Given the description of an element on the screen output the (x, y) to click on. 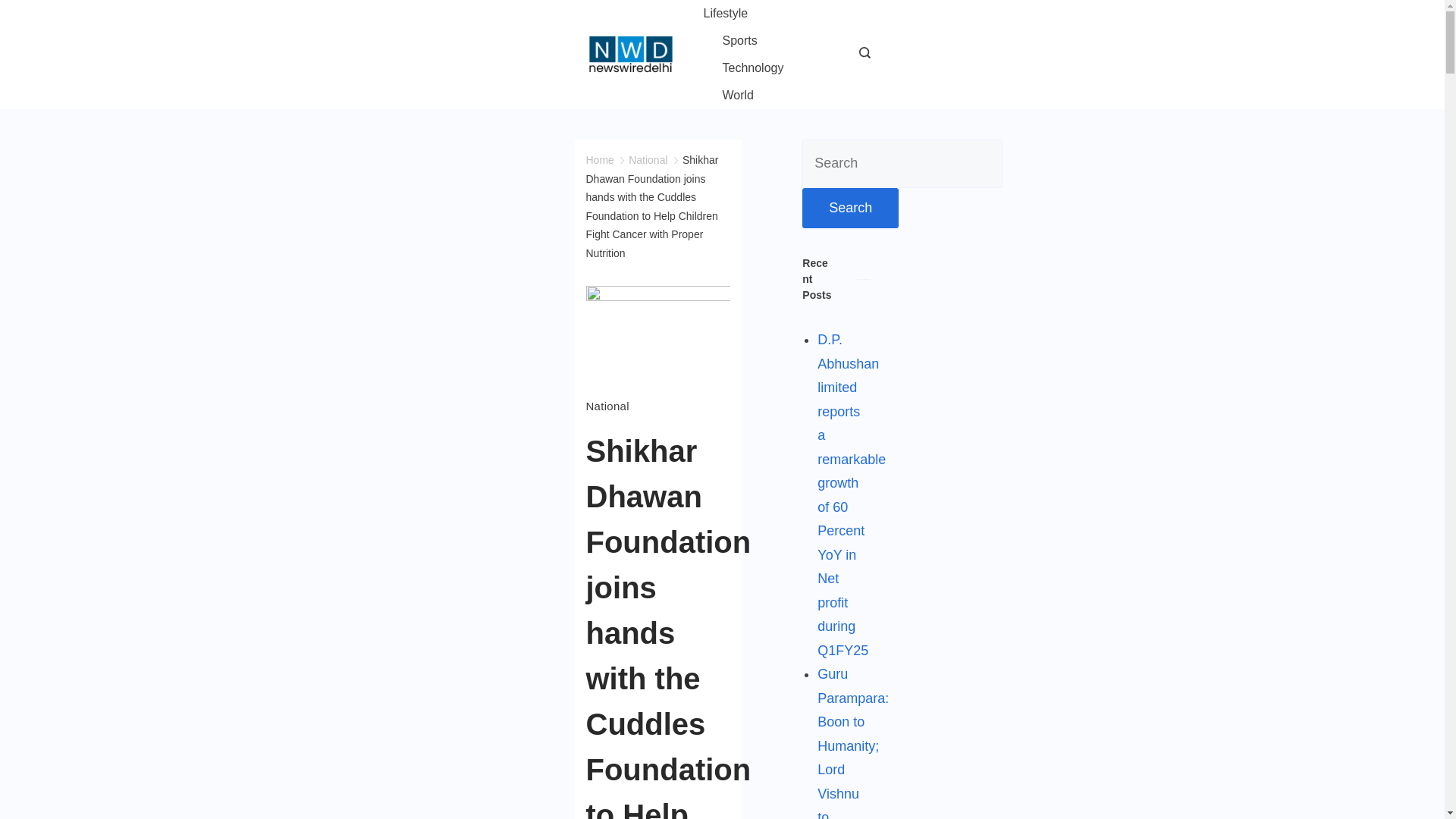
Sports (739, 40)
Search Input (902, 163)
National (647, 159)
Search (850, 208)
World (728, 94)
Technology (753, 67)
National (606, 406)
Search (850, 208)
Search (850, 208)
Lifestyle (735, 13)
Home (598, 159)
